Given the description of an element on the screen output the (x, y) to click on. 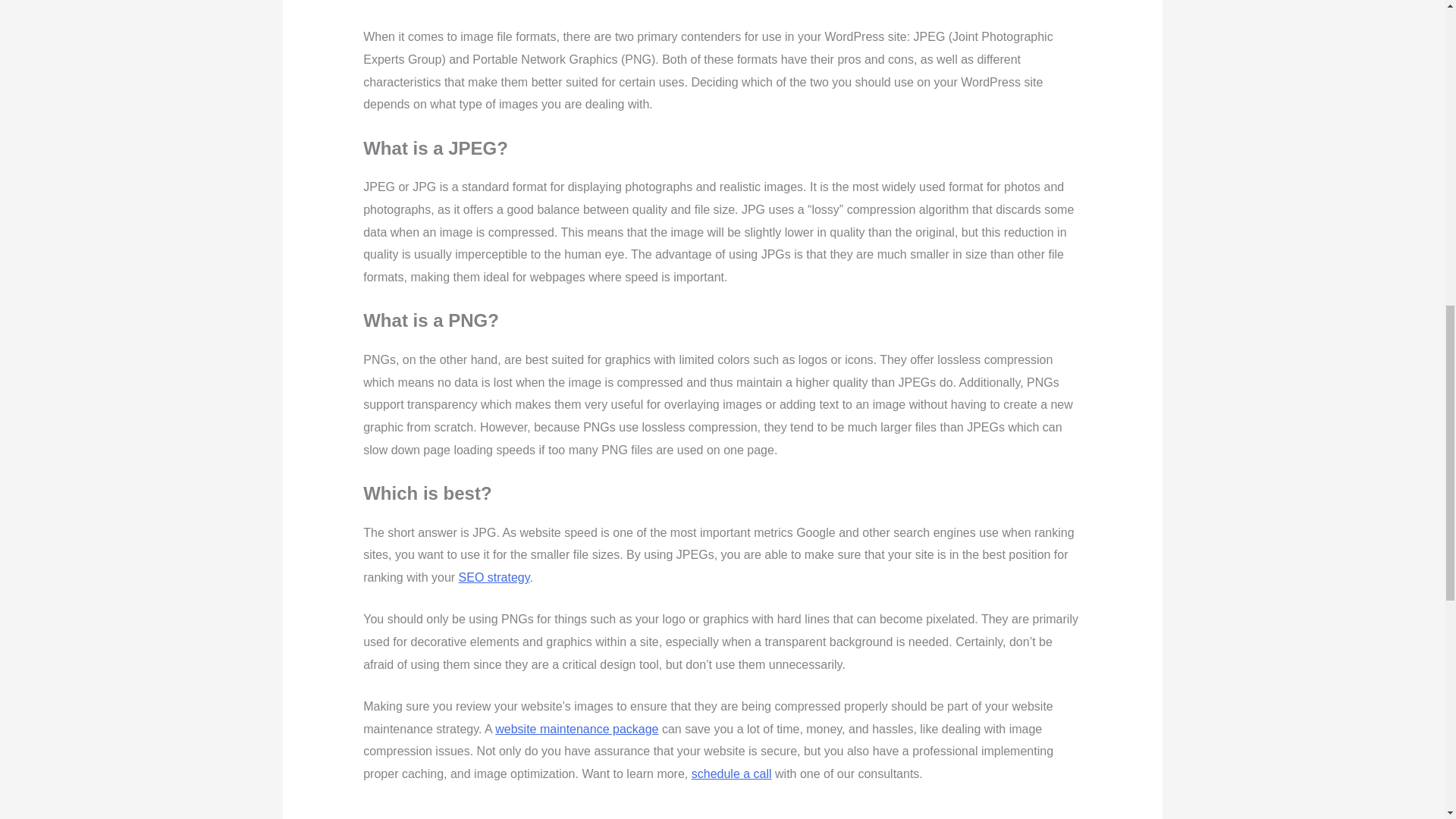
SEO strategy (493, 576)
Contact (731, 773)
schedule a call (731, 773)
SEO strategy (493, 576)
Website Maintenance Packages (576, 728)
website maintenance package (576, 728)
